Given the description of an element on the screen output the (x, y) to click on. 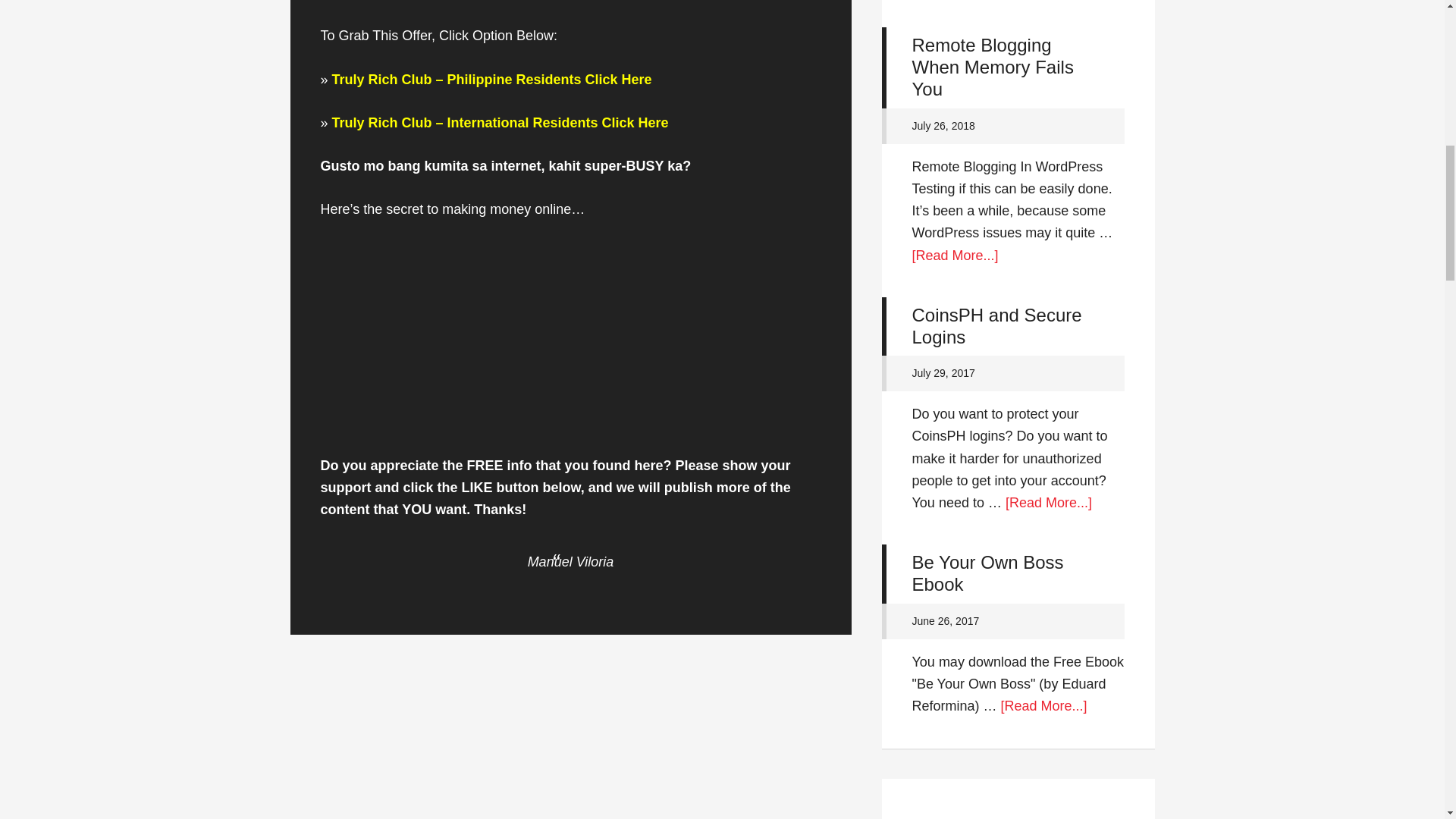
Be Your Own Boss Ebook (986, 573)
Truly Rich Club - Philippine Residents (491, 79)
Remote Blogging When Memory Fails You (992, 67)
secret to making money online (477, 209)
CoinsPH and Secure Logins (996, 325)
Manuel Viloria (570, 561)
Truly Rich Club - International Residents (499, 122)
